Given the description of an element on the screen output the (x, y) to click on. 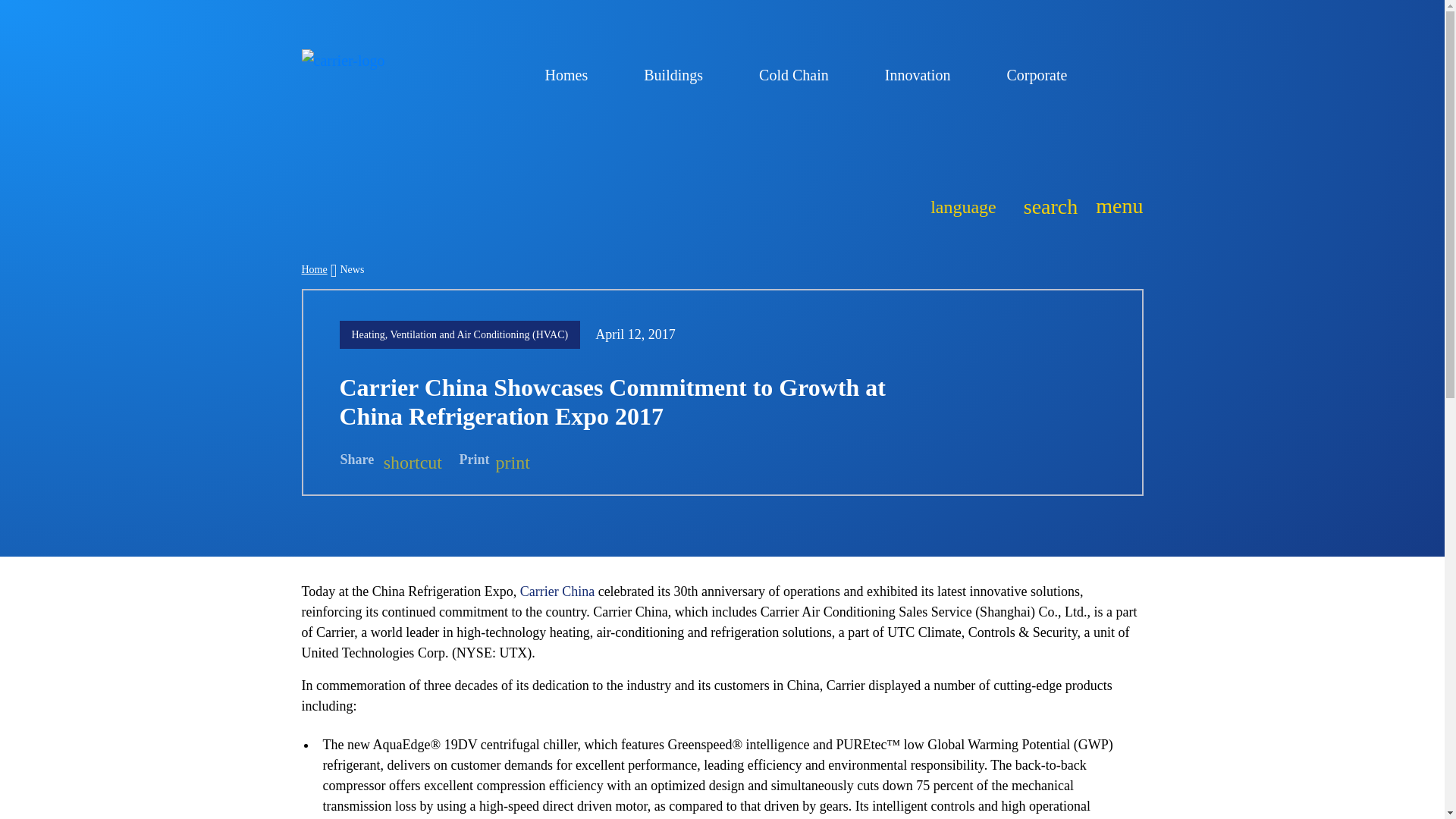
Printprint (494, 460)
Buildings (680, 74)
Corporate (1043, 74)
Cold Chain (800, 74)
Homes (1114, 206)
search (573, 74)
Share shortcut (1046, 205)
language (391, 460)
Home (962, 205)
Innovation (314, 268)
Carrier China (924, 74)
